Given the description of an element on the screen output the (x, y) to click on. 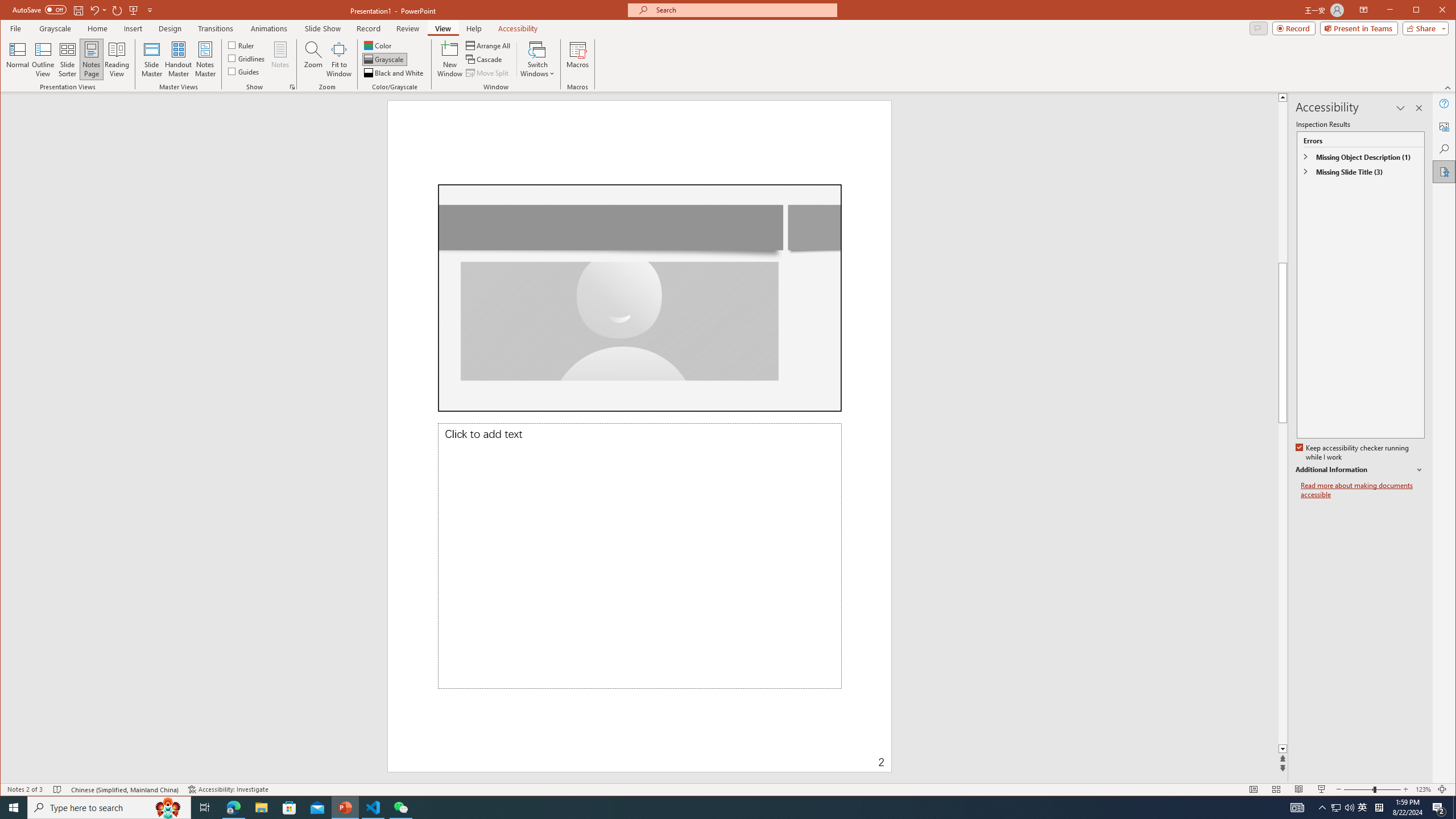
Search highlights icon opens search home window (167, 807)
AutomationID: 4105 (1297, 807)
Read more about making documents accessible (1362, 489)
Zoom... (312, 59)
Fit to Window (338, 59)
Q2790: 100% (1349, 807)
Microsoft Store (289, 807)
Additional Information (1360, 469)
